Given the description of an element on the screen output the (x, y) to click on. 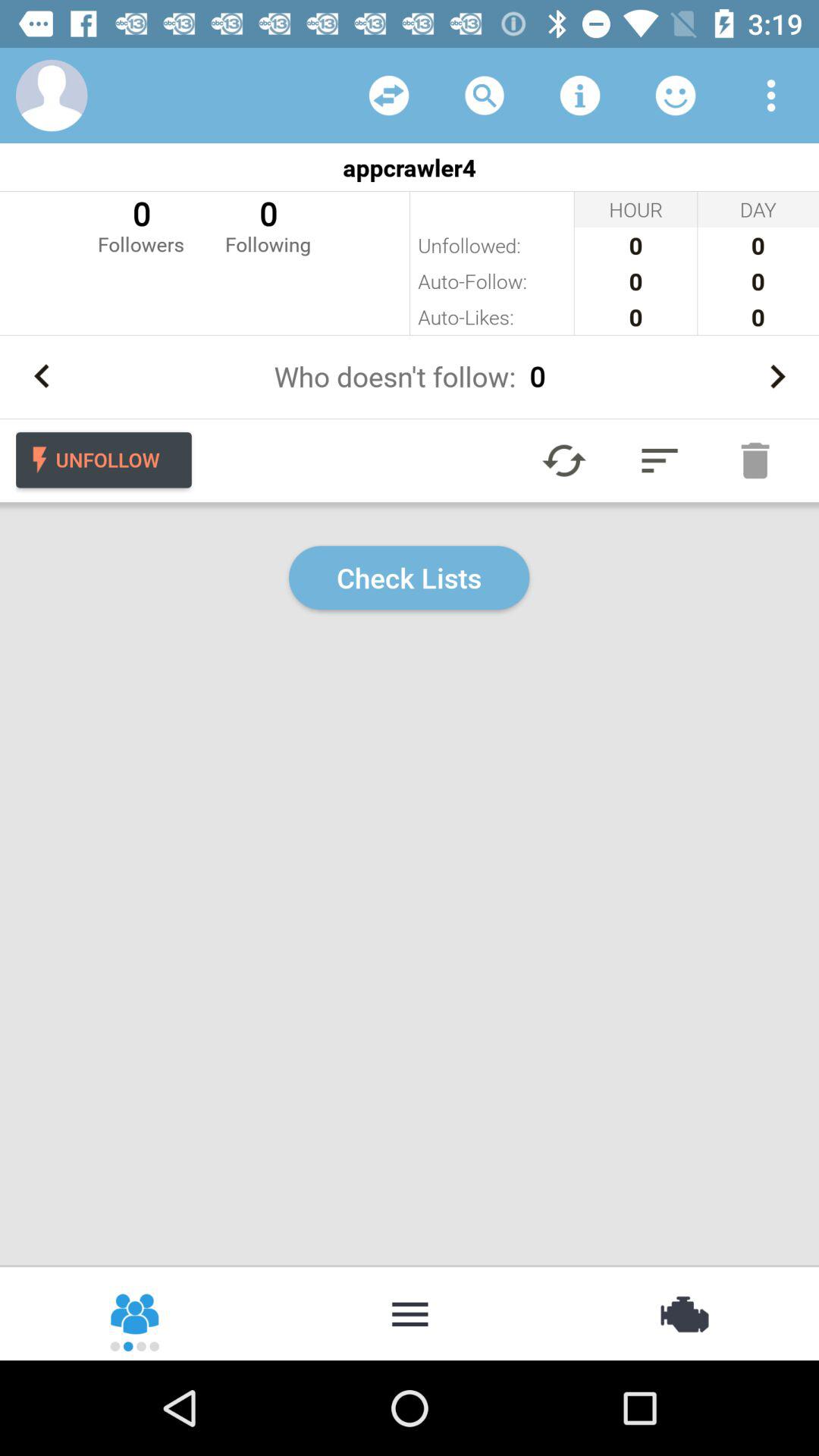
minimize screen (409, 1312)
